Given the description of an element on the screen output the (x, y) to click on. 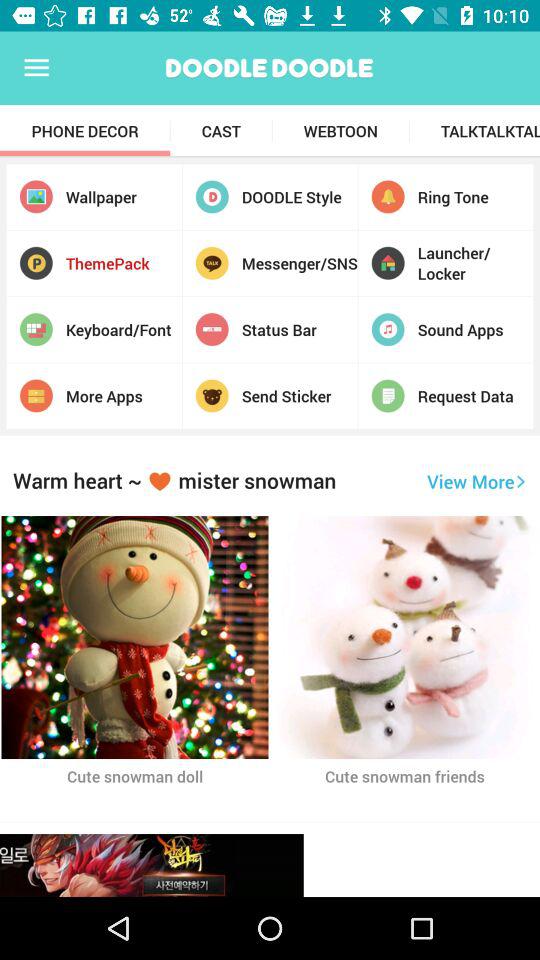
swipe to the cast app (221, 131)
